Given the description of an element on the screen output the (x, y) to click on. 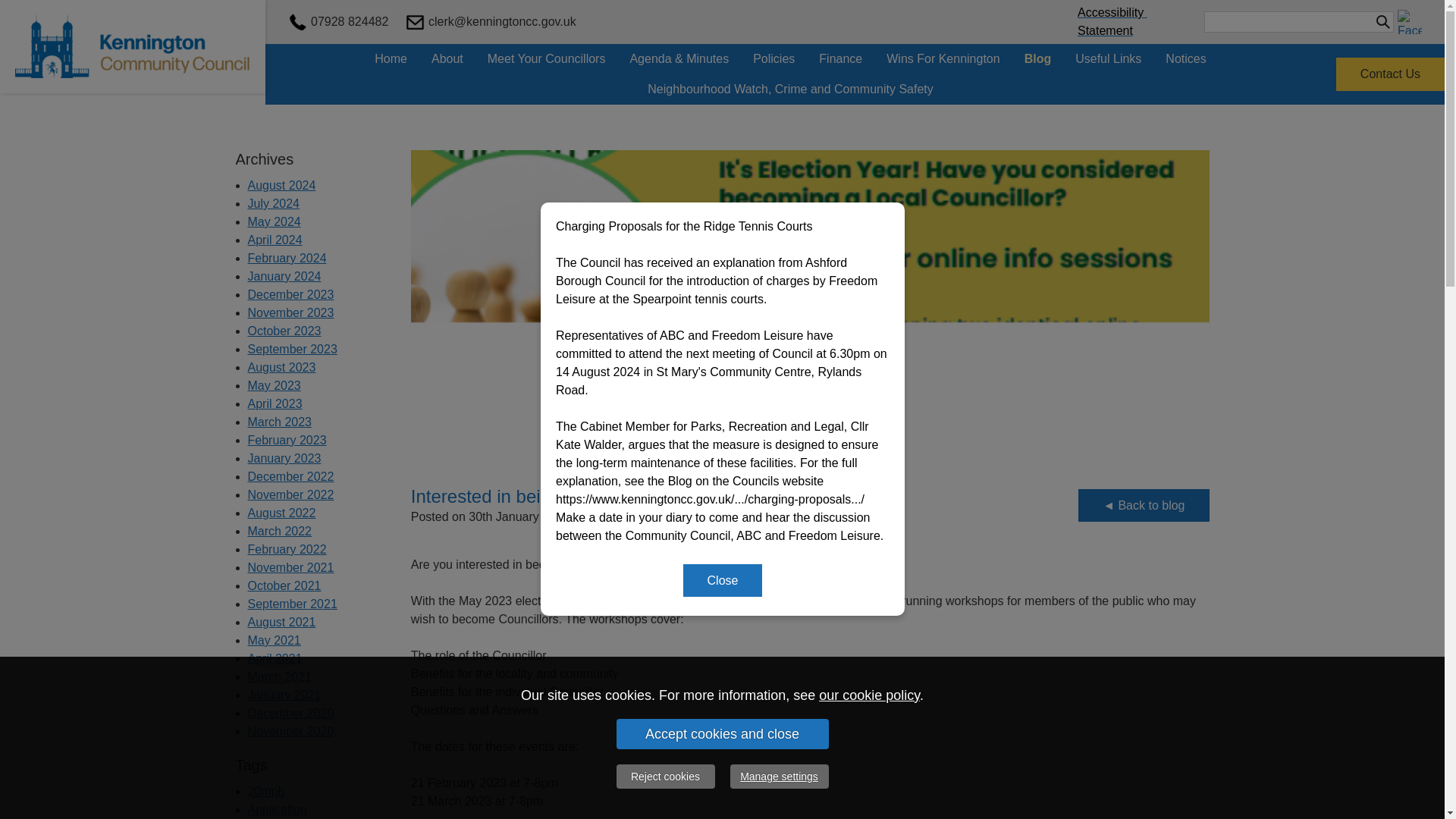
Home (390, 59)
Notices (1185, 59)
Policies (773, 59)
Finance (840, 59)
August 2024 (281, 185)
Accessibility Statement (1112, 20)
Wins For Kennington (943, 59)
About (447, 59)
Blog (1037, 59)
Meet Your Councillors (546, 59)
